Given the description of an element on the screen output the (x, y) to click on. 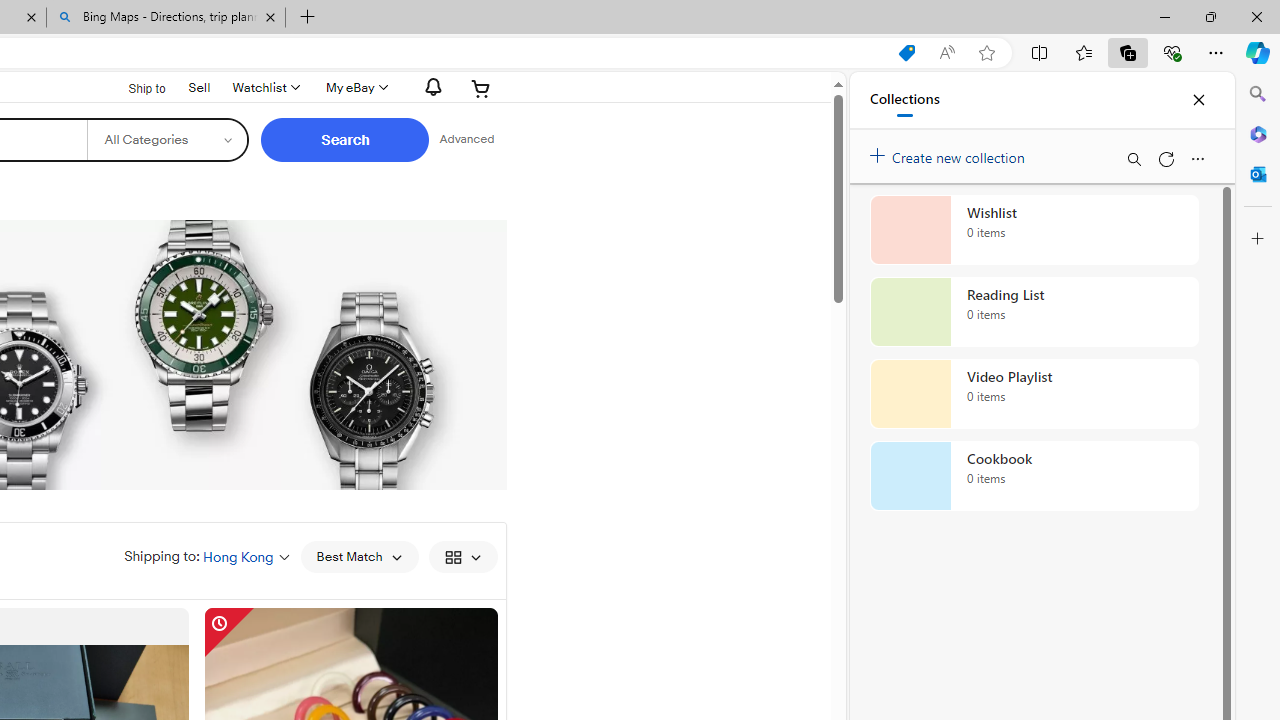
Create new collection (950, 153)
Select a category for search (167, 139)
More options menu (1197, 158)
This site has coupons! Shopping in Microsoft Edge, 20 (906, 53)
Cookbook collection, 0 items (1034, 475)
Ship to (134, 86)
